Given the description of an element on the screen output the (x, y) to click on. 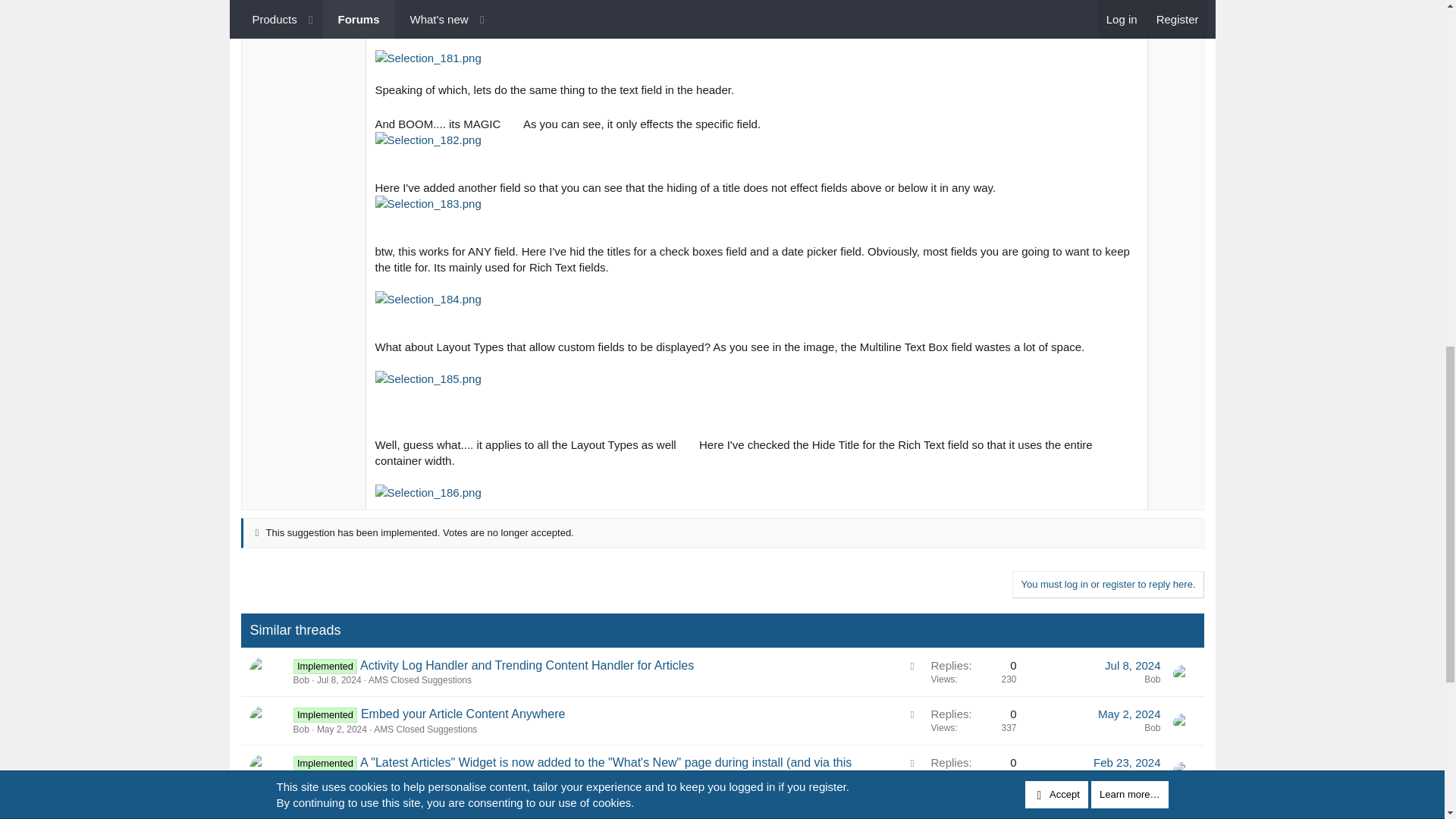
Big Grin    :D (687, 442)
First message reaction score: 0 (973, 672)
Jul 8, 2024 at 10:52 AM (1132, 665)
Jul 8, 2024 at 10:52 AM (339, 679)
Big Grin    :D (512, 121)
